Given the description of an element on the screen output the (x, y) to click on. 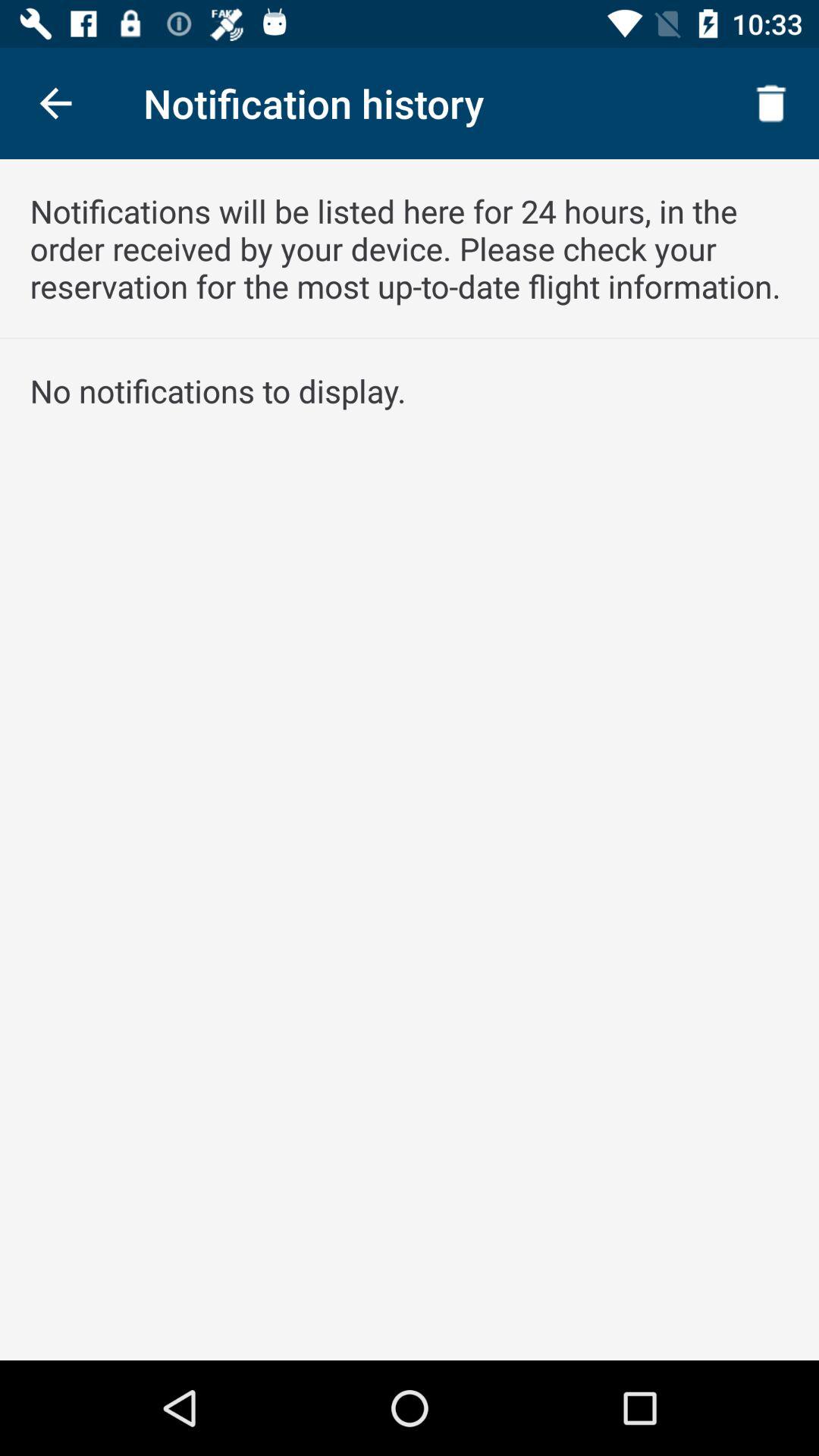
turn off icon at the top right corner (771, 103)
